Given the description of an element on the screen output the (x, y) to click on. 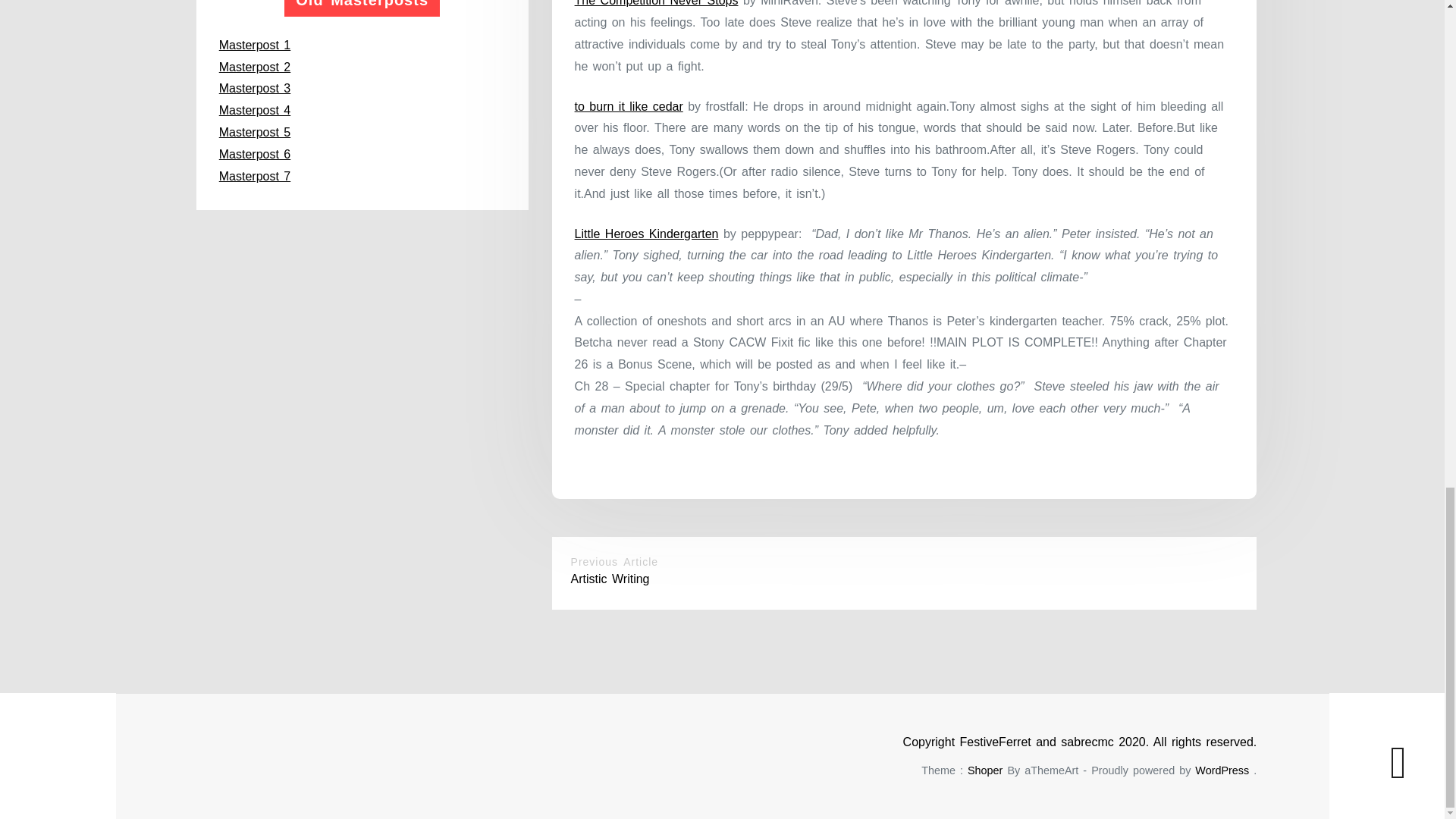
Masterpost 7 (254, 175)
Masterpost 5 (254, 132)
Masterpost 6 (254, 154)
Masterpost 4 (254, 110)
Masterpost 3 (254, 88)
Artistic Writing (609, 578)
Masterpost 2 (254, 66)
Masterpost 1 (254, 44)
to burn it like cedar (628, 106)
Little Heroes Kindergarten (647, 233)
